Given the description of an element on the screen output the (x, y) to click on. 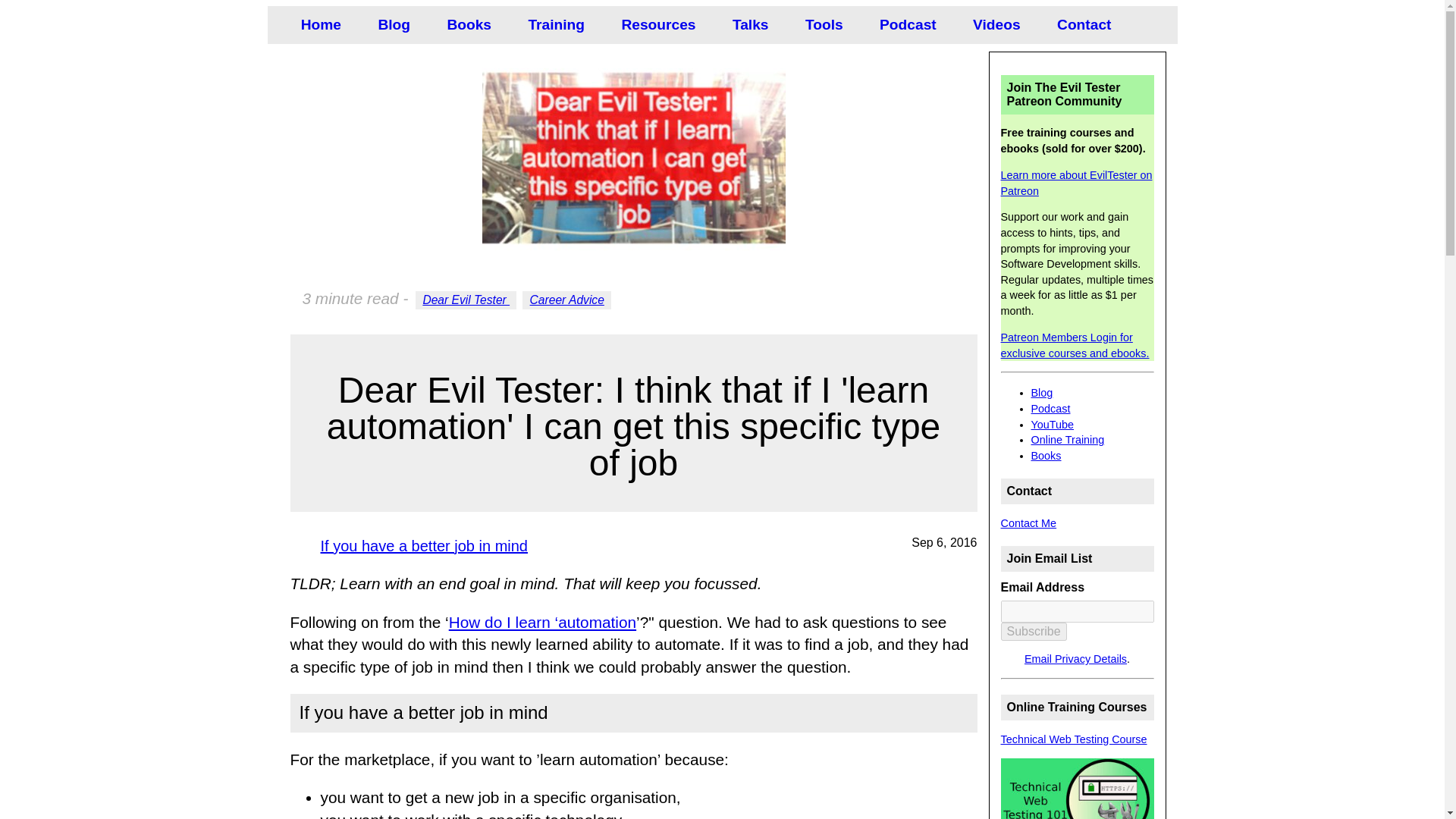
Career Advice (566, 300)
Talks (746, 24)
If you have a better job in mind (423, 545)
Dear Evil Tester (465, 300)
Training (552, 24)
Resources (653, 24)
Home (317, 24)
Tools (820, 24)
Blog (389, 24)
Books (465, 24)
